Given the description of an element on the screen output the (x, y) to click on. 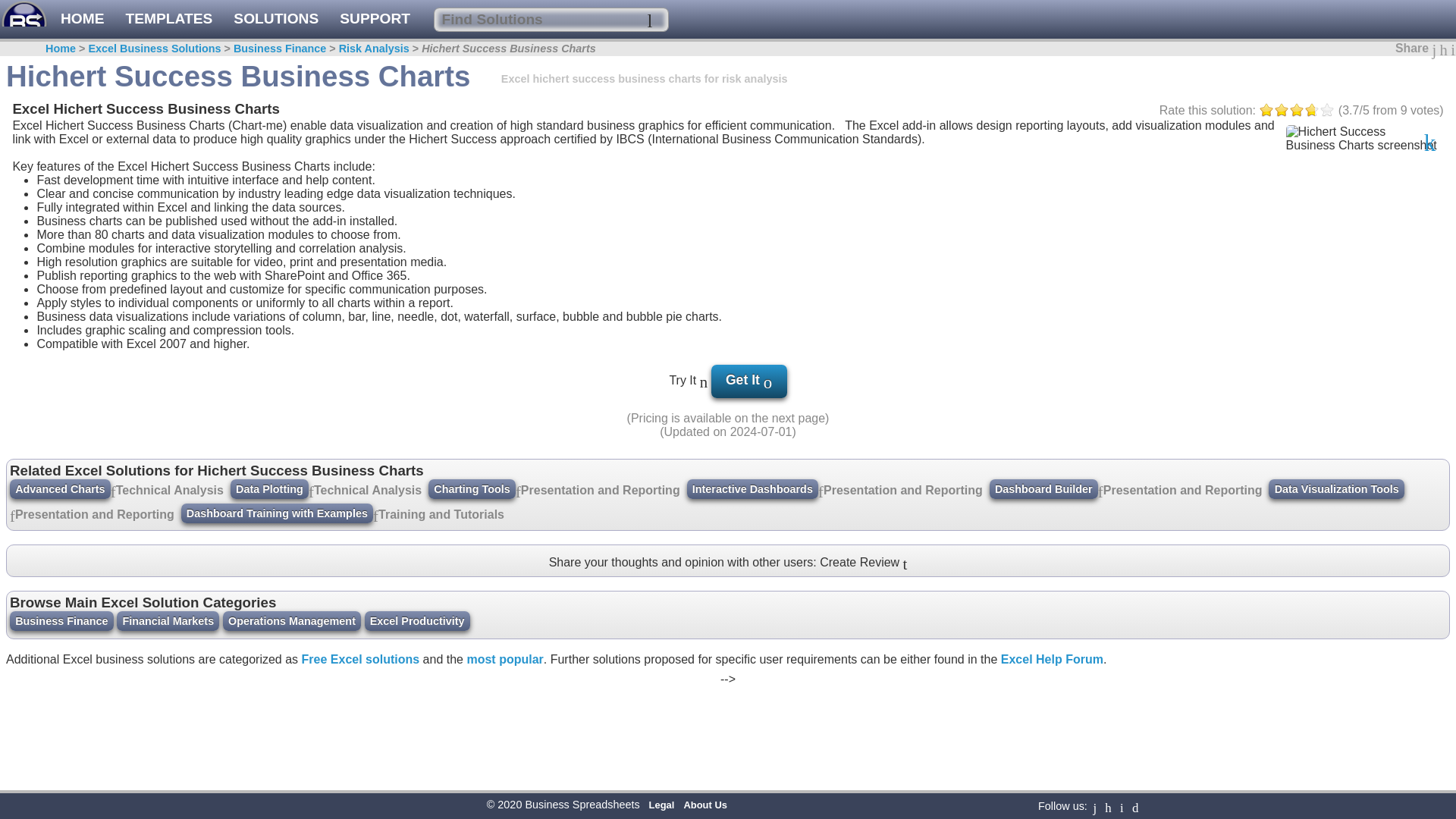
Excel Business Solutions (154, 48)
SOLUTIONS (275, 18)
Home (60, 48)
TEMPLATES (168, 18)
HOME (60, 18)
Business Spreadsheets - Excel templates for business (60, 18)
Risk Analysis (374, 48)
SUPPORT (374, 18)
Business Finance (279, 48)
